Given the description of an element on the screen output the (x, y) to click on. 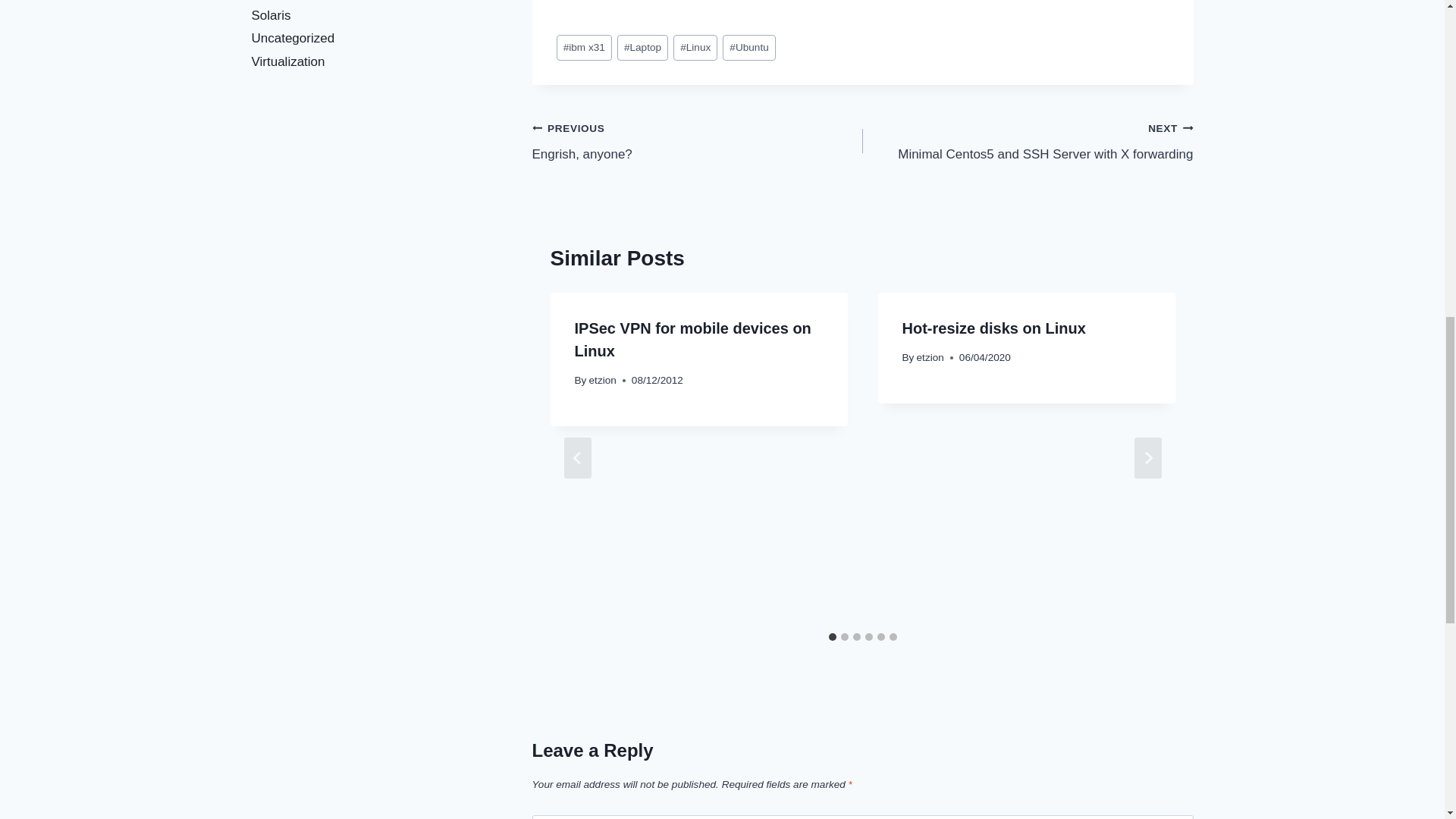
WordPress Related Posts (649, 0)
Laptop (642, 48)
Linux (694, 48)
YARPP (1028, 141)
ibm x31 (649, 0)
Ubuntu (583, 48)
